Given the description of an element on the screen output the (x, y) to click on. 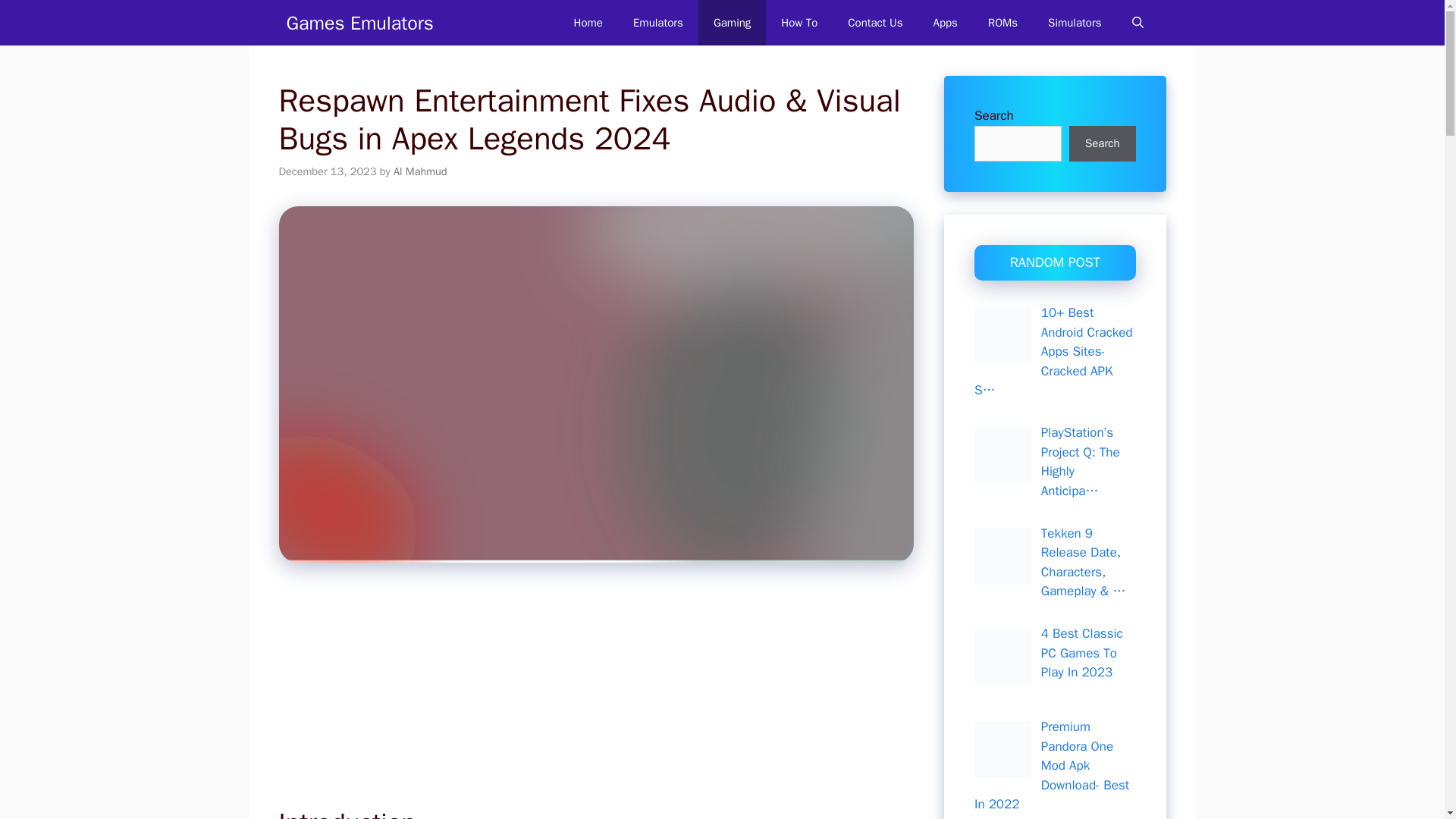
Apps (944, 22)
ROMs (1002, 22)
Advertisement (587, 694)
Gaming (731, 22)
Simulators (1074, 22)
Premium Pandora One Mod Apk Download- Best In 2022 (1051, 765)
Home (588, 22)
Search (1101, 144)
Contact Us (874, 22)
How To (798, 22)
